Given the description of an element on the screen output the (x, y) to click on. 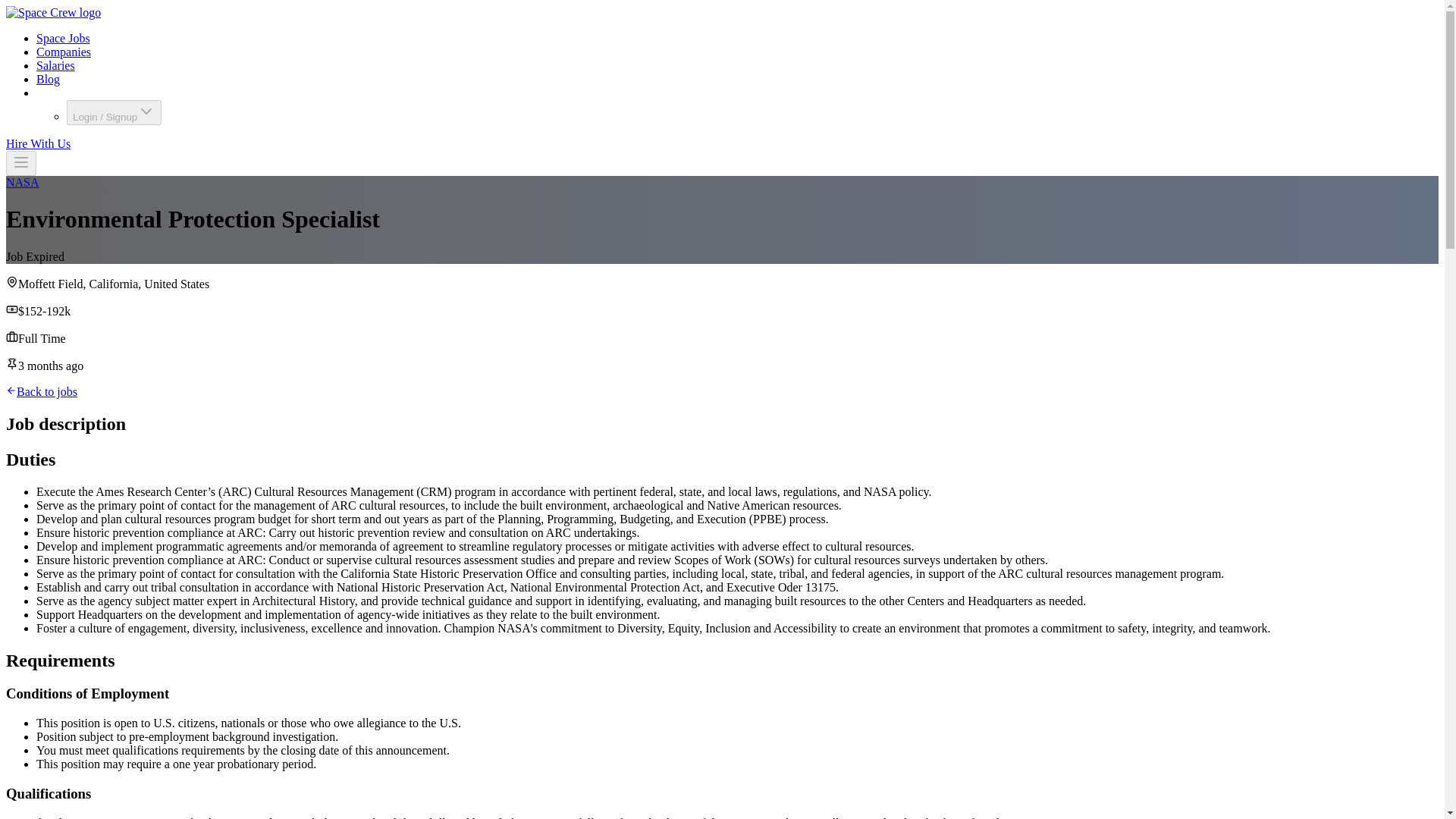
Blog (47, 78)
Hire With Us (37, 143)
NASA (22, 182)
Space Jobs (63, 38)
Back to jobs (41, 391)
Companies (63, 51)
Salaries (55, 65)
